Given the description of an element on the screen output the (x, y) to click on. 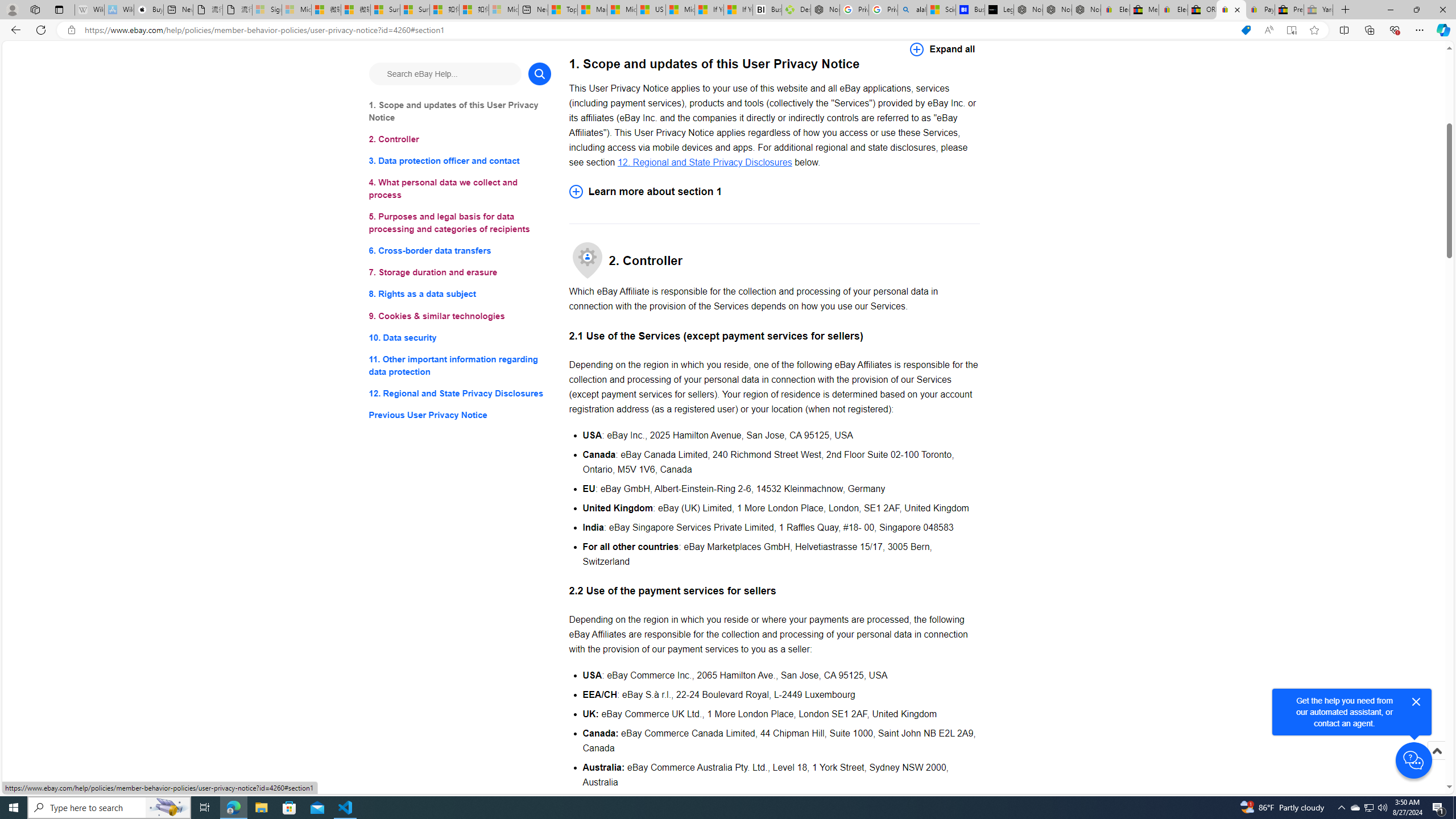
Learn more about section 1 (774, 191)
Expand all (942, 49)
2. Controller (459, 138)
4. What personal data we collect and process (459, 189)
User Privacy Notice | eBay (1230, 9)
10. Data security (459, 336)
8. Rights as a data subject (459, 293)
